Given the description of an element on the screen output the (x, y) to click on. 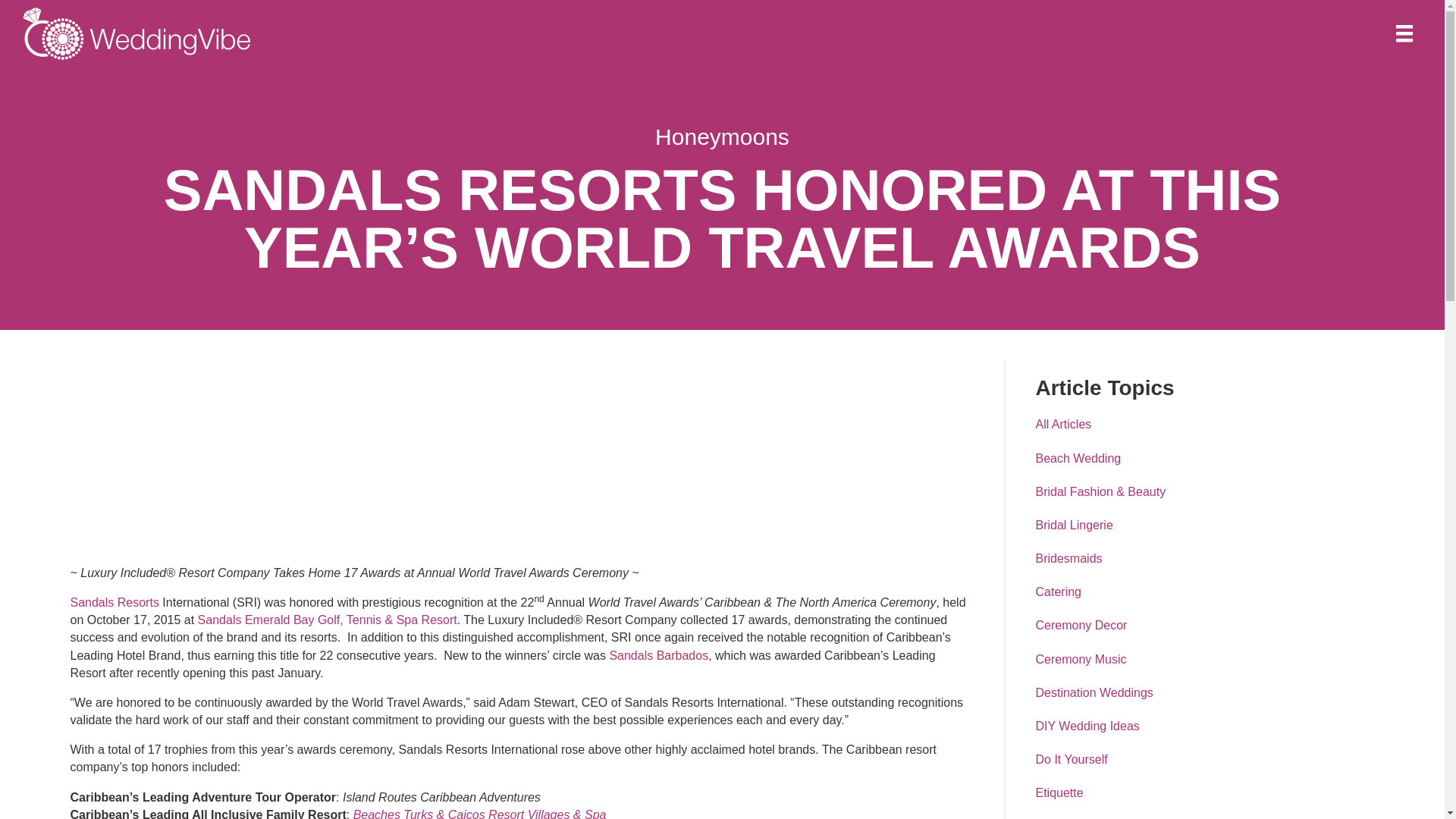
WeddingVibe-logo-magenta (136, 33)
sandals resorts (183, 458)
best all inclusive resorts (429, 458)
best caribbean resort  (480, 813)
